Given the description of an element on the screen output the (x, y) to click on. 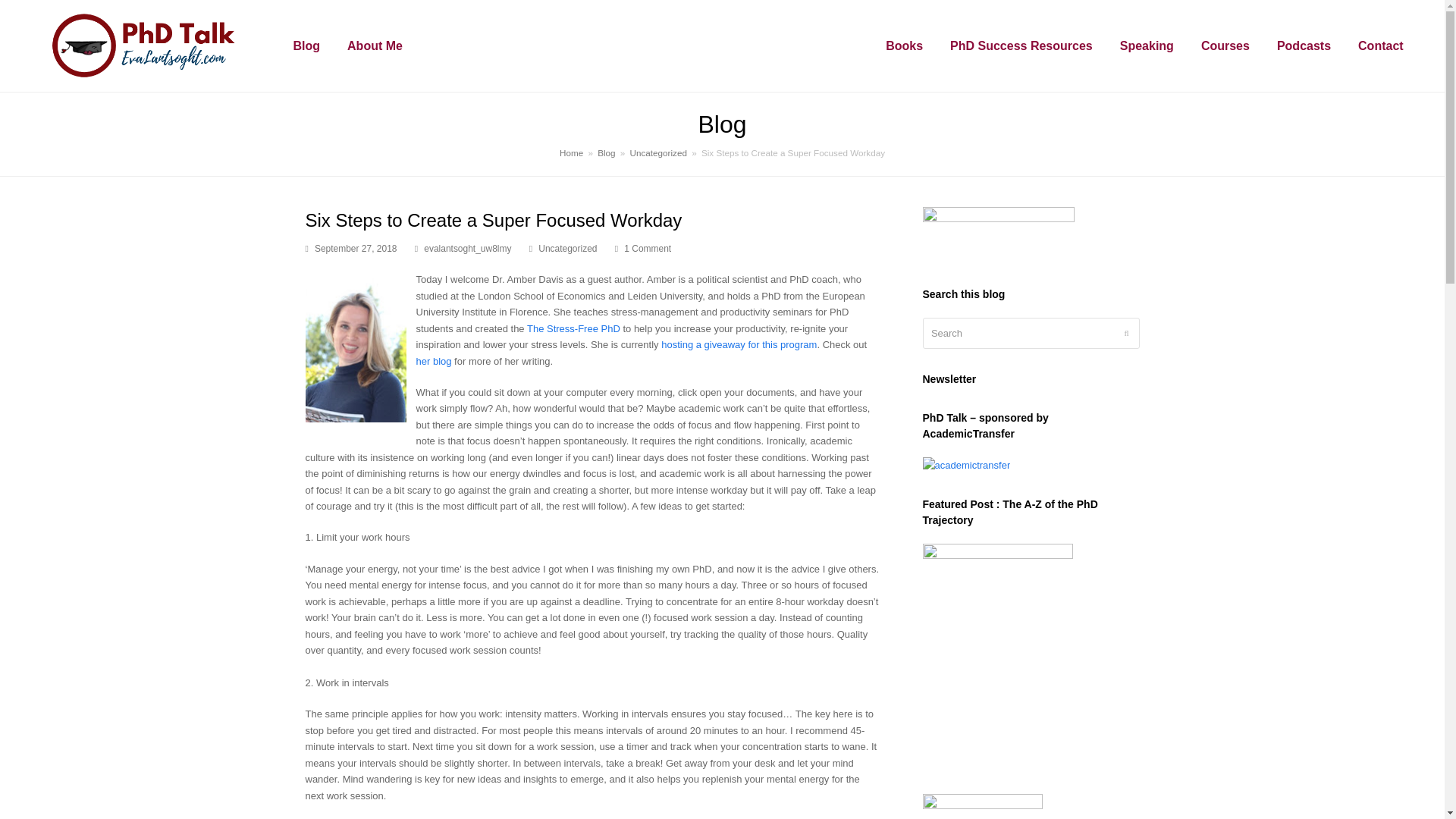
Blog (306, 45)
Podcasts (1303, 45)
PhD Success Resources (1021, 45)
Contact (1379, 45)
Books (904, 45)
1 Comment (642, 249)
PhD Talk - sponsored by AcademicTransfer (965, 465)
Courses (1225, 45)
Speaking (1147, 45)
About Me (374, 45)
